Given the description of an element on the screen output the (x, y) to click on. 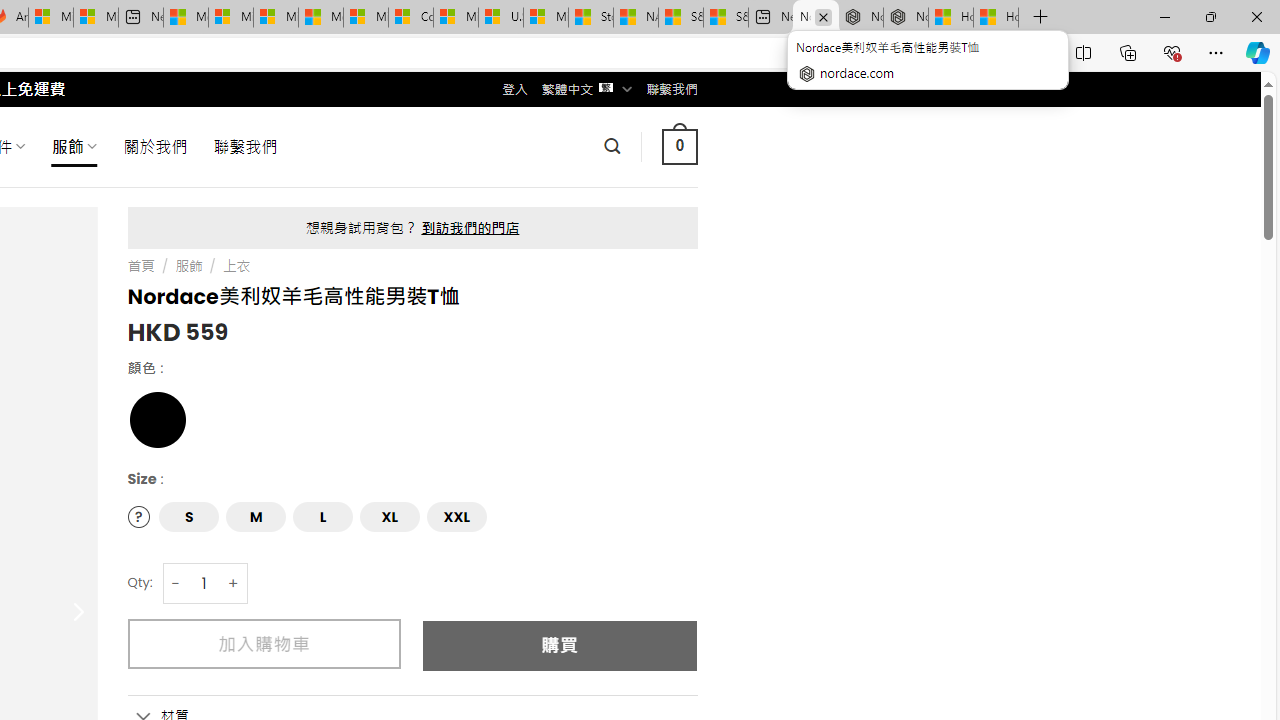
How to Use a Monitor With Your Closed Laptop (995, 17)
 0  (679, 146)
+ (234, 583)
Add this page to favorites (Ctrl+D) (1030, 53)
Restore (1210, 16)
